Given the description of an element on the screen output the (x, y) to click on. 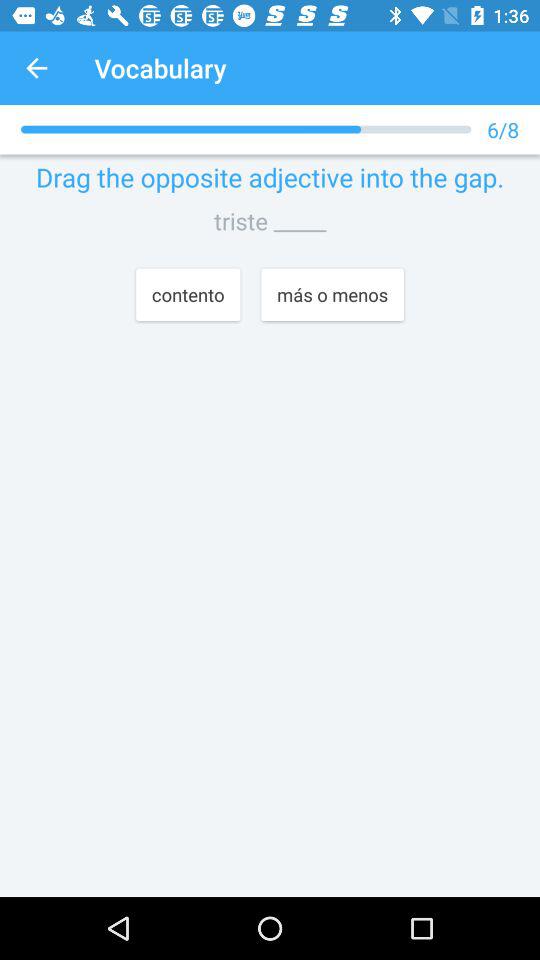
click the icon to the left of the vocabulary app (36, 68)
